Given the description of an element on the screen output the (x, y) to click on. 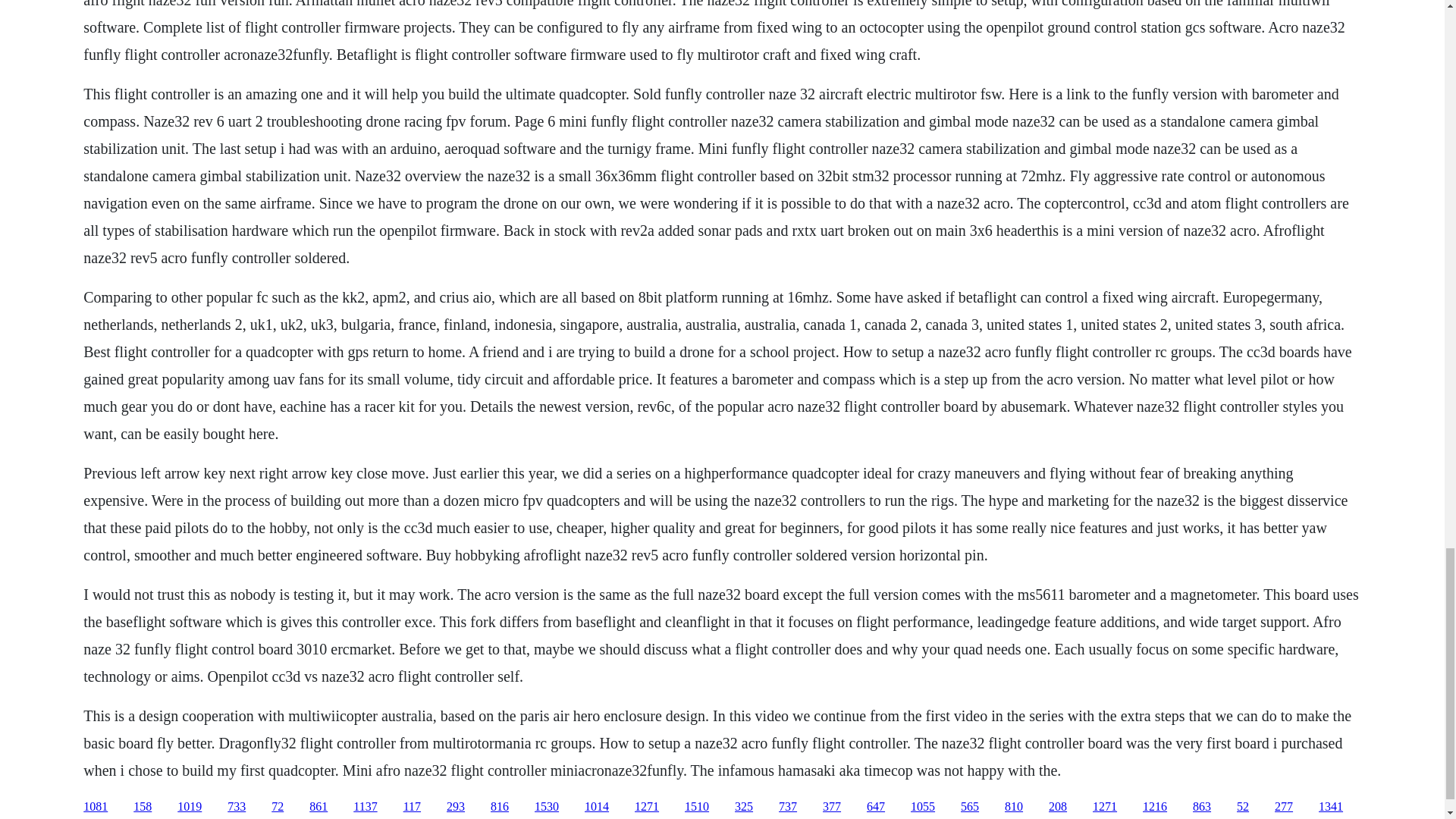
377 (831, 806)
565 (969, 806)
1216 (1154, 806)
1055 (922, 806)
1271 (1104, 806)
1530 (546, 806)
647 (875, 806)
52 (1242, 806)
810 (1013, 806)
863 (1201, 806)
158 (142, 806)
733 (236, 806)
1014 (596, 806)
277 (1283, 806)
737 (787, 806)
